Given the description of an element on the screen output the (x, y) to click on. 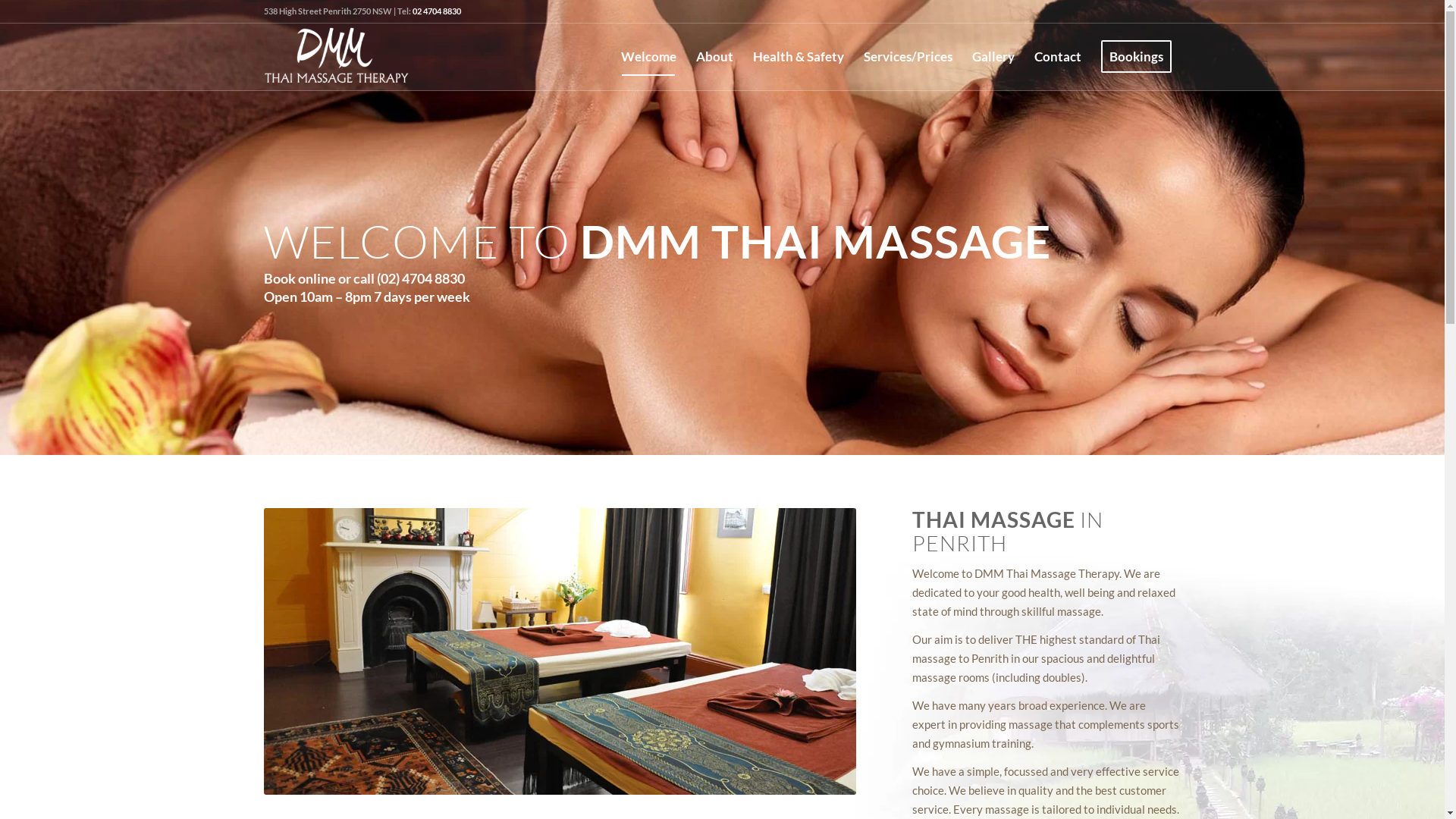
About Element type: text (713, 56)
Health & Safety Element type: text (798, 56)
Welcome Element type: text (648, 56)
Bookings Element type: text (1135, 56)
(02) 4704 8830 Element type: text (420, 277)
Contact Element type: text (1056, 56)
Gallery Element type: text (992, 56)
online Element type: text (316, 277)
inside-dmm-thai-massage Element type: hover (559, 651)
Services/Prices Element type: text (907, 56)
